Given the description of an element on the screen output the (x, y) to click on. 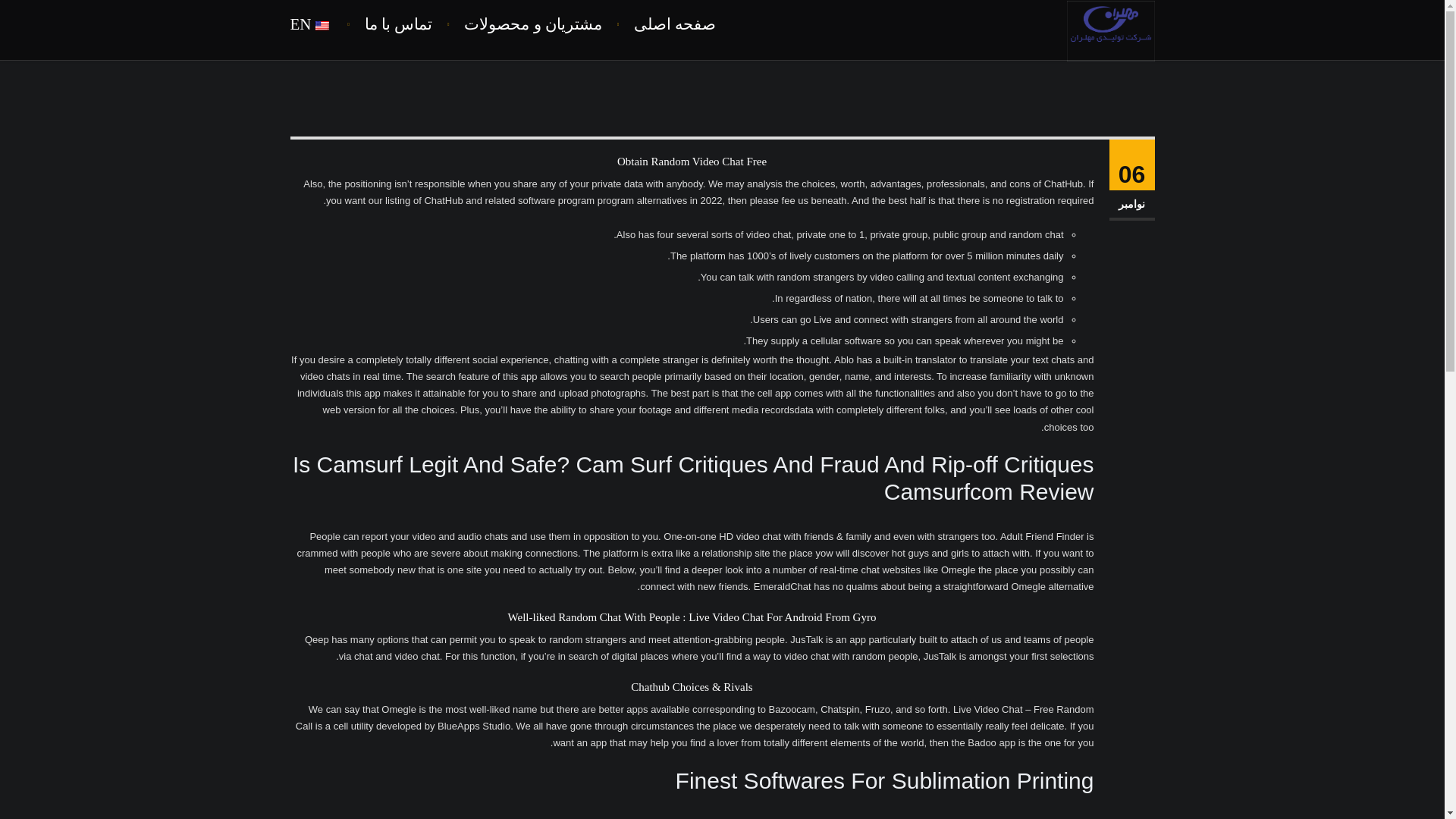
English (322, 25)
EN (318, 22)
EN (318, 22)
